Given the description of an element on the screen output the (x, y) to click on. 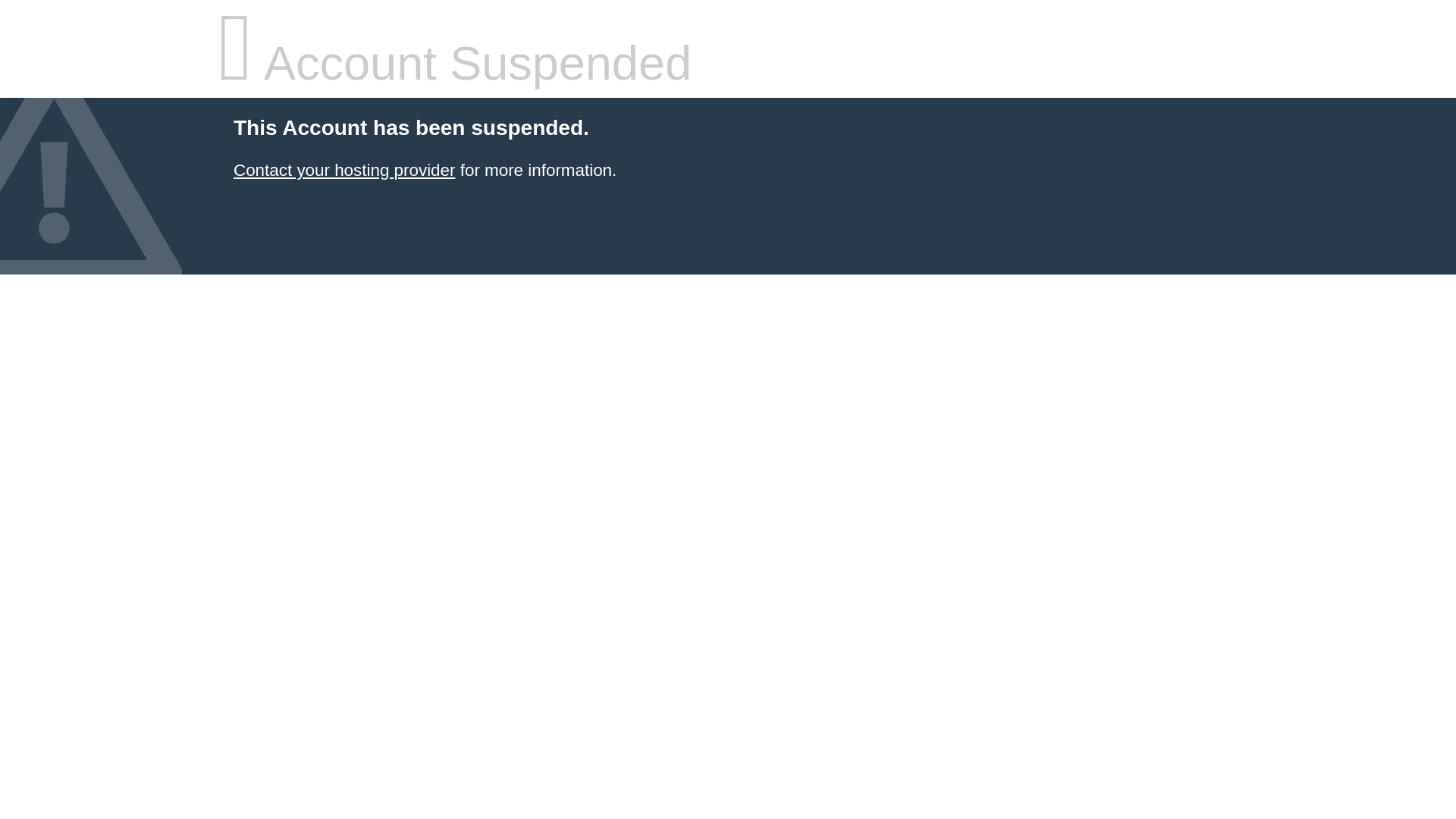
Contact your hosting provider (343, 169)
